Given the description of an element on the screen output the (x, y) to click on. 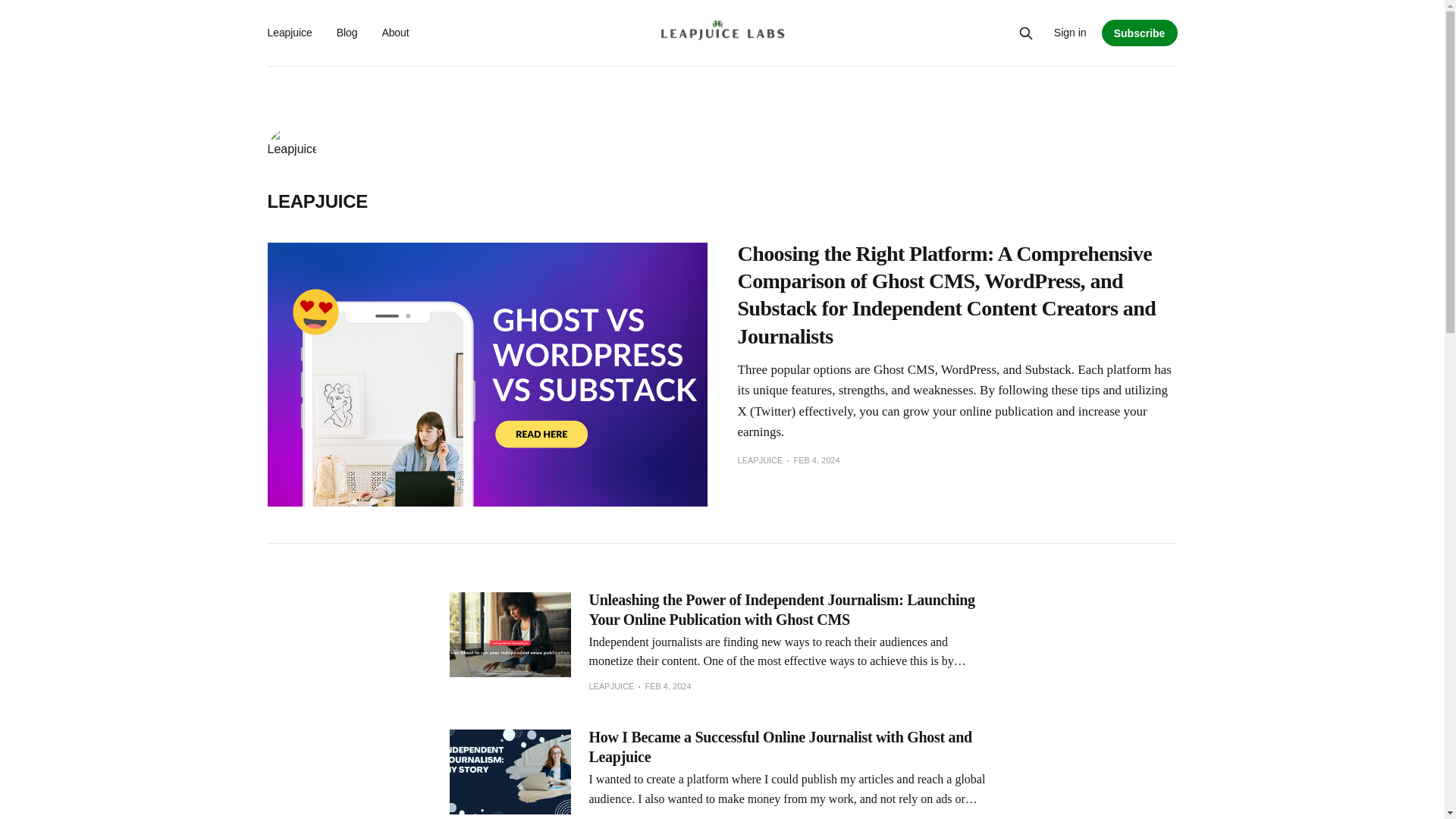
About (395, 32)
Sign in (1070, 32)
Subscribe (1139, 32)
Blog (347, 32)
Leapjuice (288, 32)
